Given the description of an element on the screen output the (x, y) to click on. 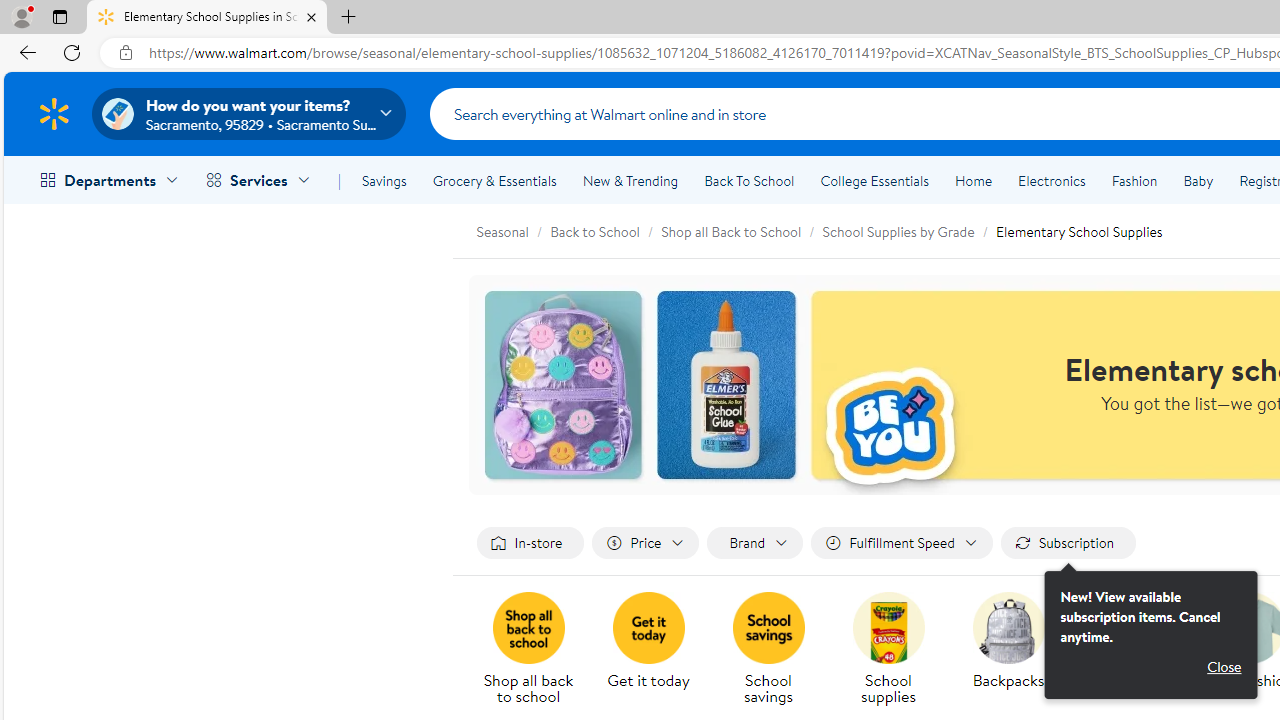
Shop all Back to School (741, 230)
College Essentials (874, 180)
Get it today (656, 650)
